Given the description of an element on the screen output the (x, y) to click on. 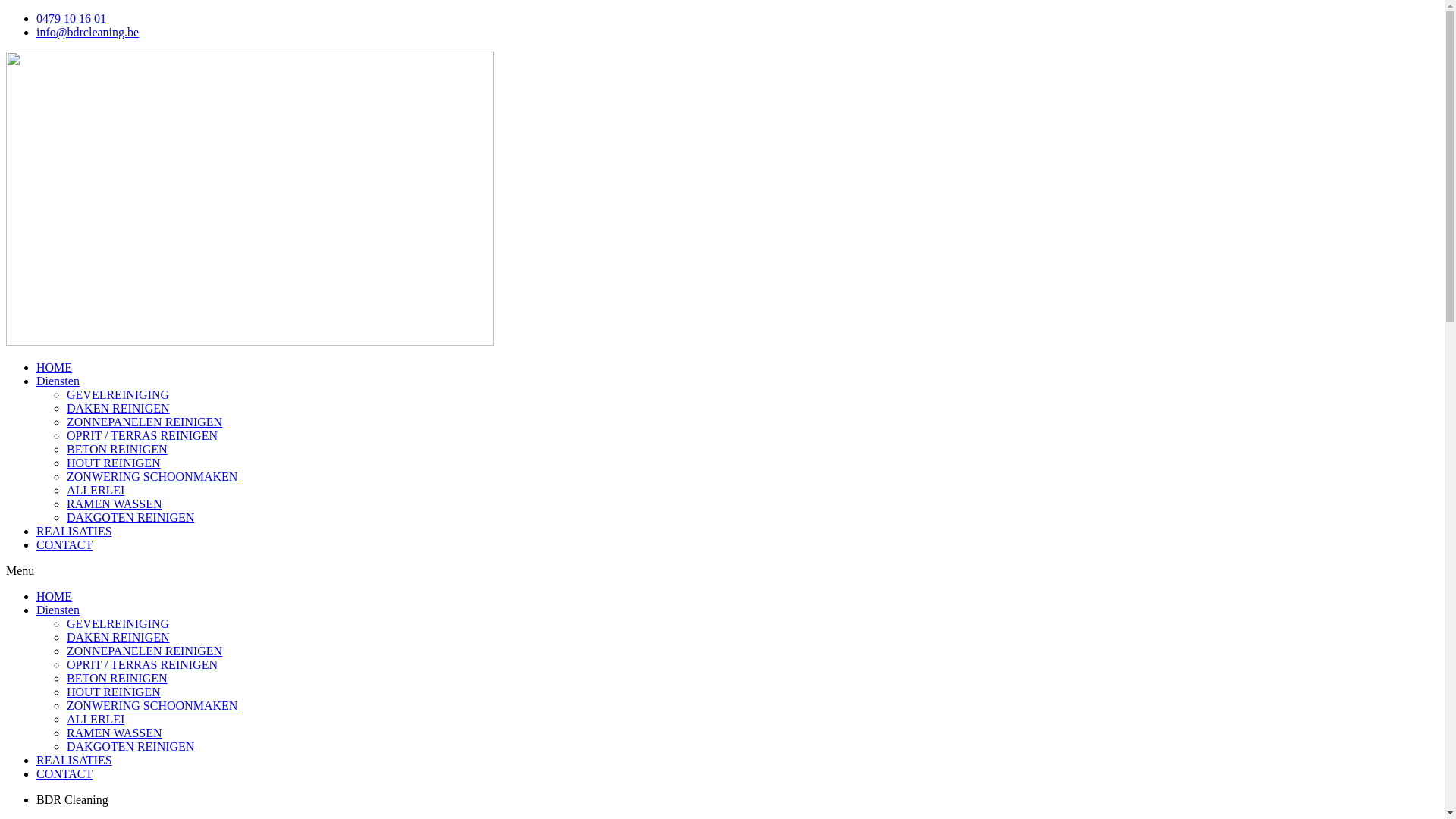
info@bdrcleaning.be Element type: text (87, 31)
REALISATIES Element type: text (74, 530)
ZONNEPANELEN REINIGEN Element type: text (144, 421)
Diensten Element type: text (57, 609)
CONTACT Element type: text (64, 773)
HOME Element type: text (54, 366)
RAMEN WASSEN Element type: text (114, 503)
DAKGOTEN REINIGEN Element type: text (130, 746)
HOUT REINIGEN Element type: text (113, 462)
HOUT REINIGEN Element type: text (113, 691)
ALLERLEI Element type: text (95, 489)
REALISATIES Element type: text (74, 759)
BETON REINIGEN Element type: text (116, 448)
OPRIT / TERRAS REINIGEN Element type: text (141, 664)
Diensten Element type: text (57, 380)
BETON REINIGEN Element type: text (116, 677)
0479 10 16 01 Element type: text (71, 18)
ALLERLEI Element type: text (95, 718)
RAMEN WASSEN Element type: text (114, 732)
ZONNEPANELEN REINIGEN Element type: text (144, 650)
DAKGOTEN REINIGEN Element type: text (130, 517)
ZONWERING SCHOONMAKEN Element type: text (151, 705)
OPRIT / TERRAS REINIGEN Element type: text (141, 435)
CONTACT Element type: text (64, 544)
ZONWERING SCHOONMAKEN Element type: text (151, 476)
DAKEN REINIGEN Element type: text (117, 636)
GEVELREINIGING Element type: text (117, 623)
HOME Element type: text (54, 595)
DAKEN REINIGEN Element type: text (117, 407)
GEVELREINIGING Element type: text (117, 394)
